Given the description of an element on the screen output the (x, y) to click on. 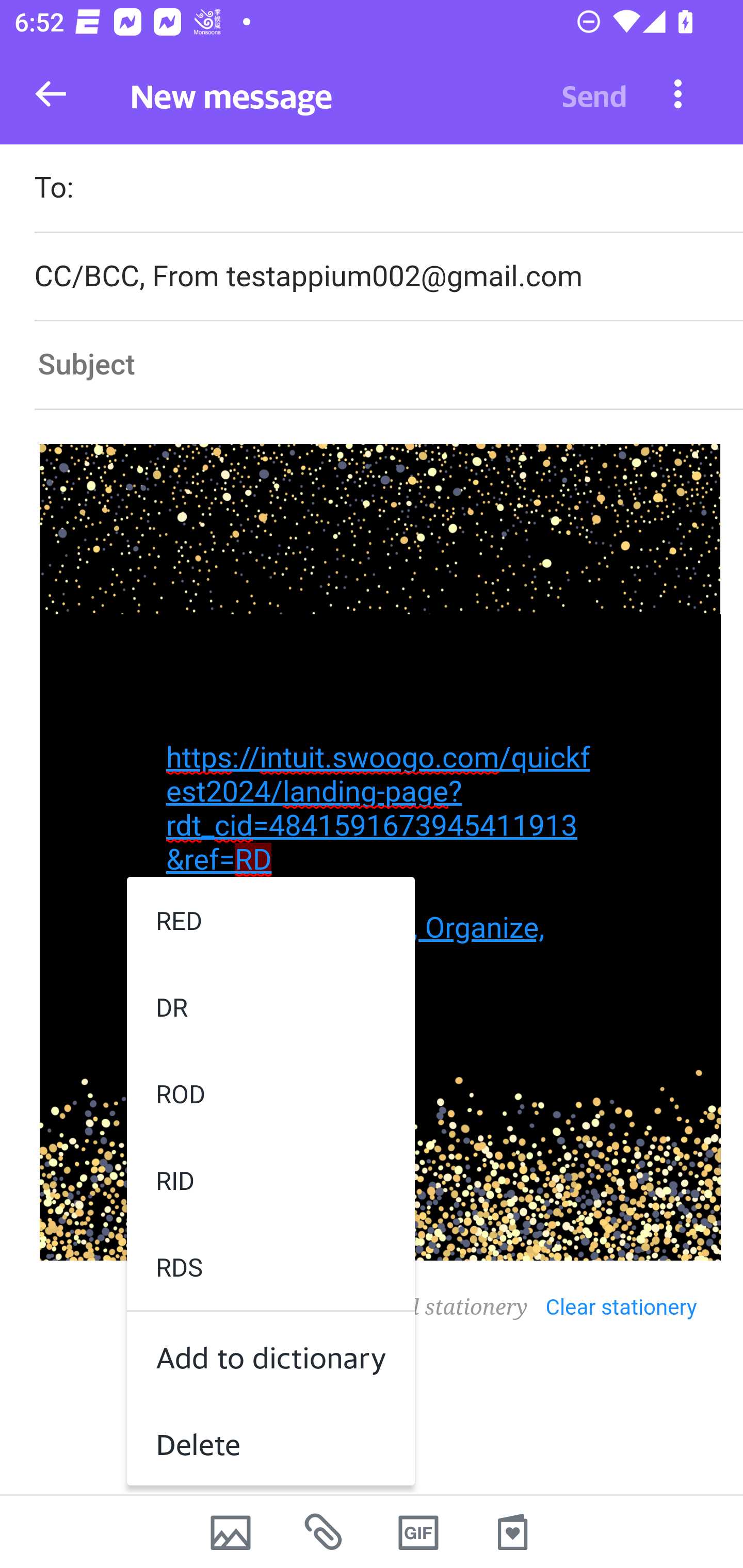
RED (270, 919)
DR (270, 1006)
ROD (270, 1093)
RID (270, 1179)
RDS (270, 1266)
Add to dictionary (270, 1355)
Delete (270, 1441)
